Given the description of an element on the screen output the (x, y) to click on. 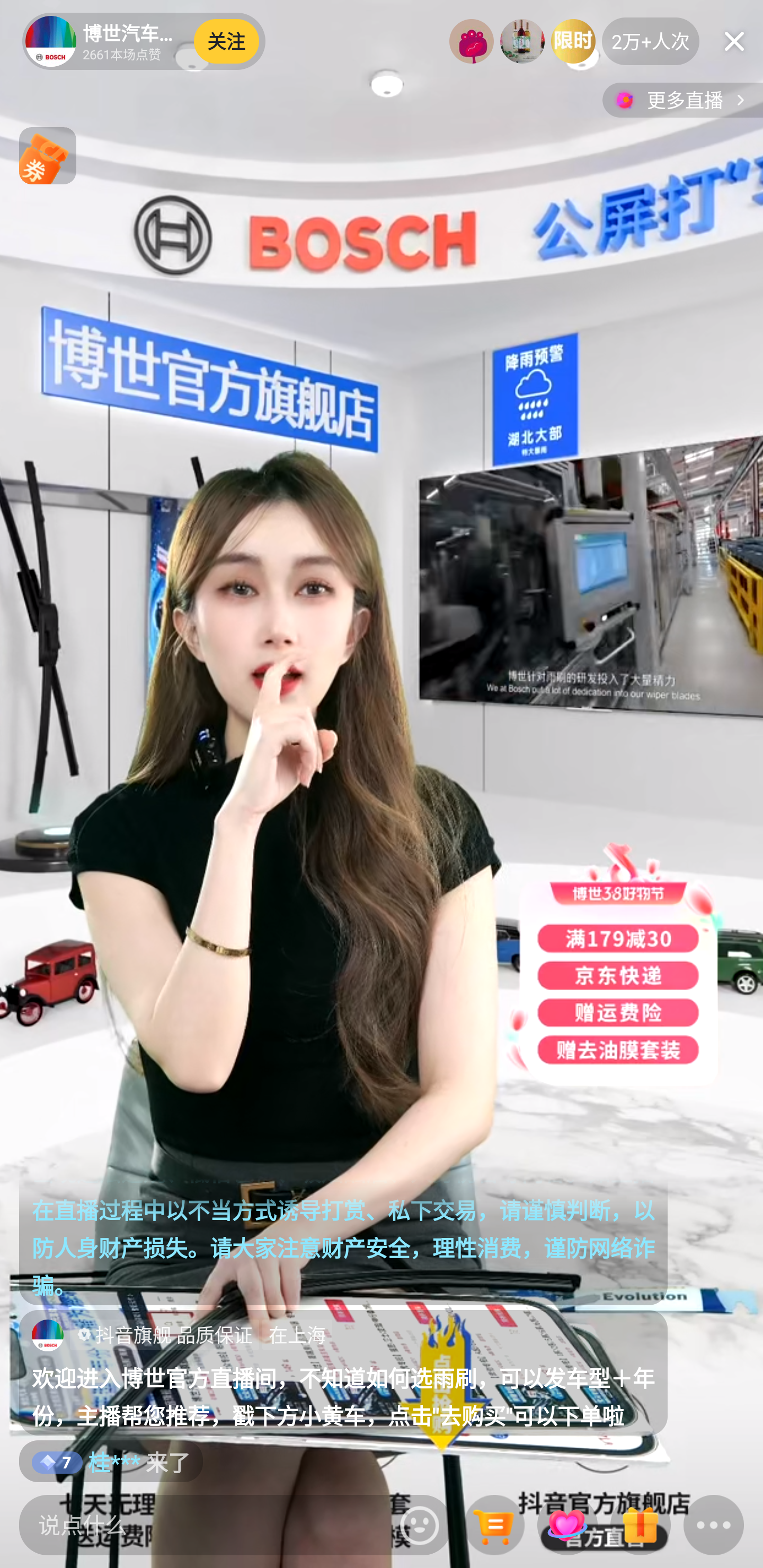
榜一 小*** 1音浪 (471, 41)
榜二 贵*** 1音浪 (522, 41)
榜三 绿*** (572, 41)
主播博世汽车配件旗舰店 2661本场点赞  博世汽车配件旗舰店 2661本场点赞 关注 (143, 41)
2万+人次 (650, 41)
关注 (226, 41)
关闭 (733, 41)
更多直播 (682, 100)
优惠券 按钮 (47, 156)
* * 東*** 来了 (154, 1460)
说点什么 (205, 1524)
表情入口 (419, 1524)
商品列表 (493, 1526)
礼物 (640, 1526)
更多面板 按钮 (713, 1526)
小心心 (567, 1524)
